Given the description of an element on the screen output the (x, y) to click on. 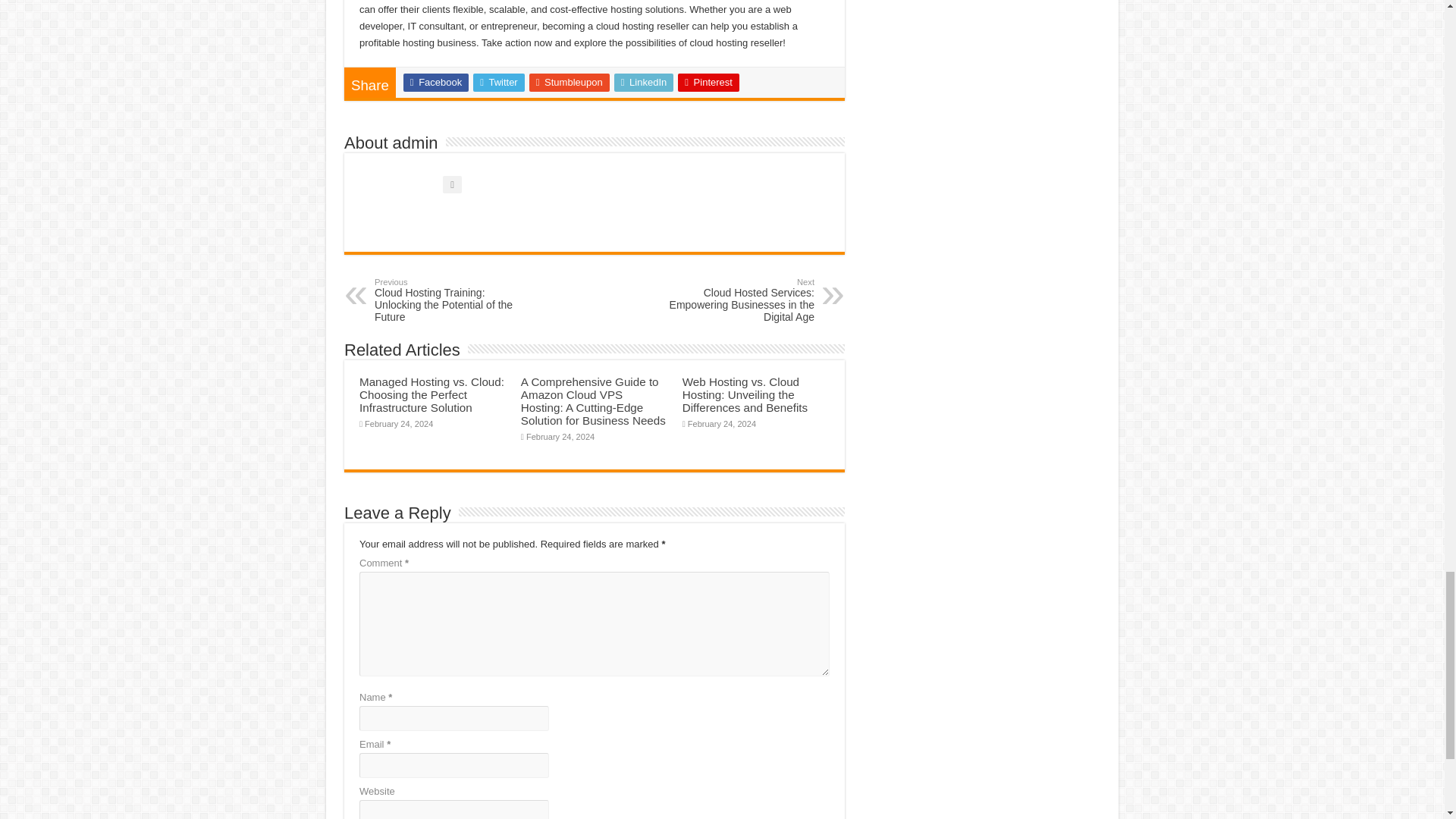
Twitter (498, 82)
Facebook (435, 82)
Pinterest (708, 82)
LinkedIn (644, 82)
Stumbleupon (569, 82)
